Given the description of an element on the screen output the (x, y) to click on. 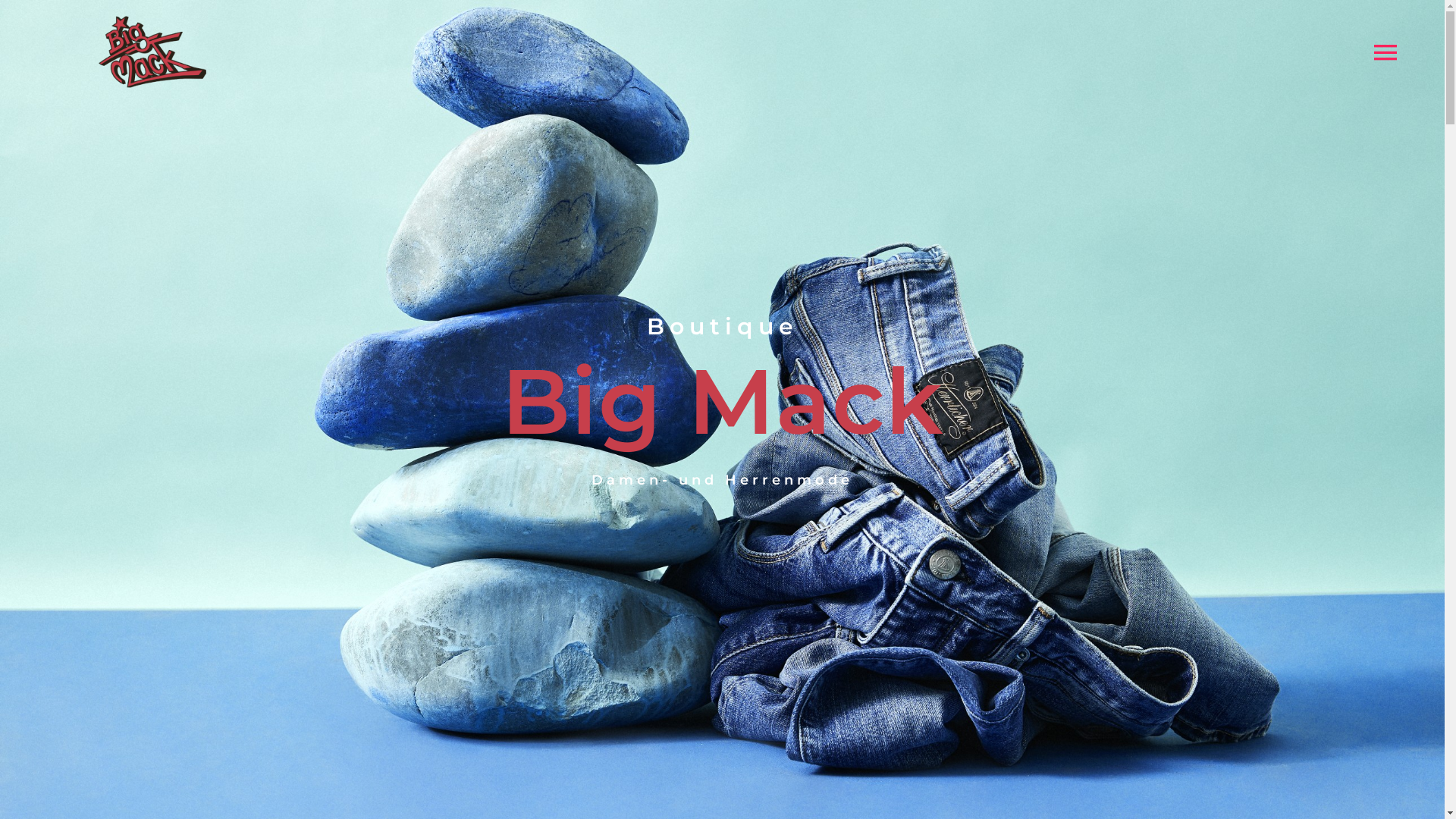
BigMack_Logo_ohneSchrift Element type: hover (153, 51)
